Given the description of an element on the screen output the (x, y) to click on. 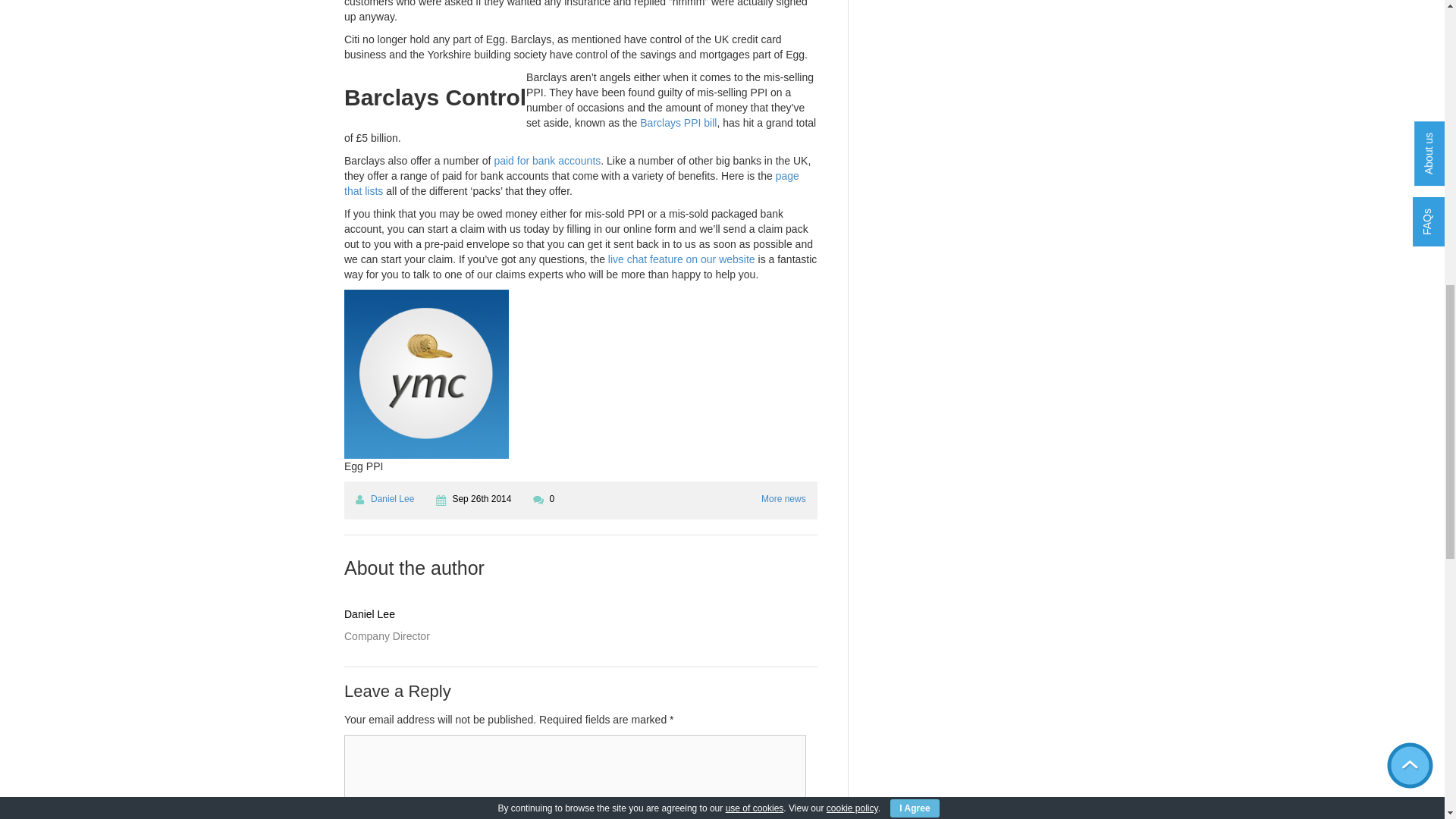
Daniel Lee (392, 498)
live chat feature on our website (681, 259)
Barclays PPI bill (678, 122)
paid for bank accounts (546, 160)
More news (783, 498)
page that lists (571, 183)
